Given the description of an element on the screen output the (x, y) to click on. 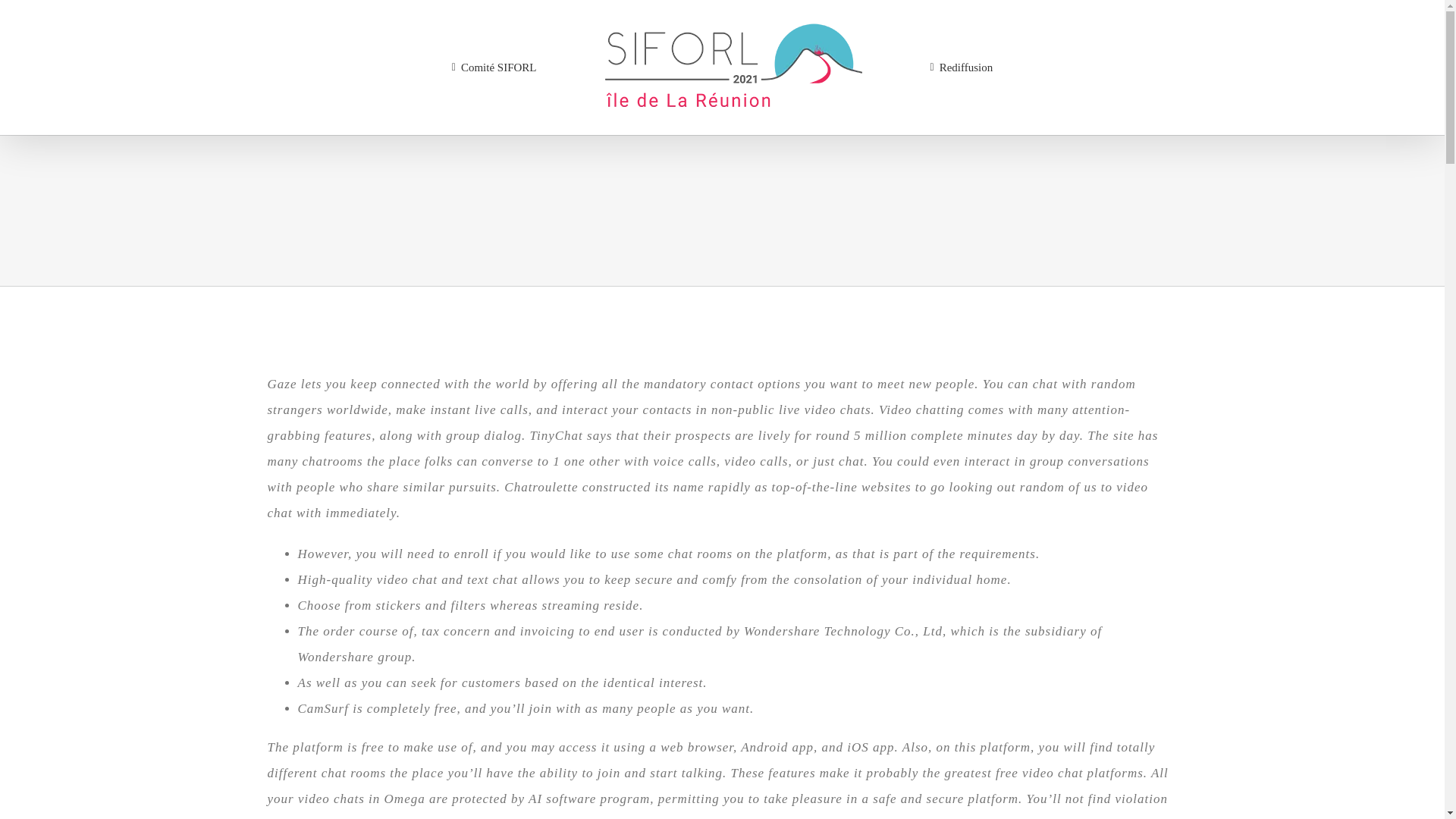
Rediffusion (961, 67)
